Given the description of an element on the screen output the (x, y) to click on. 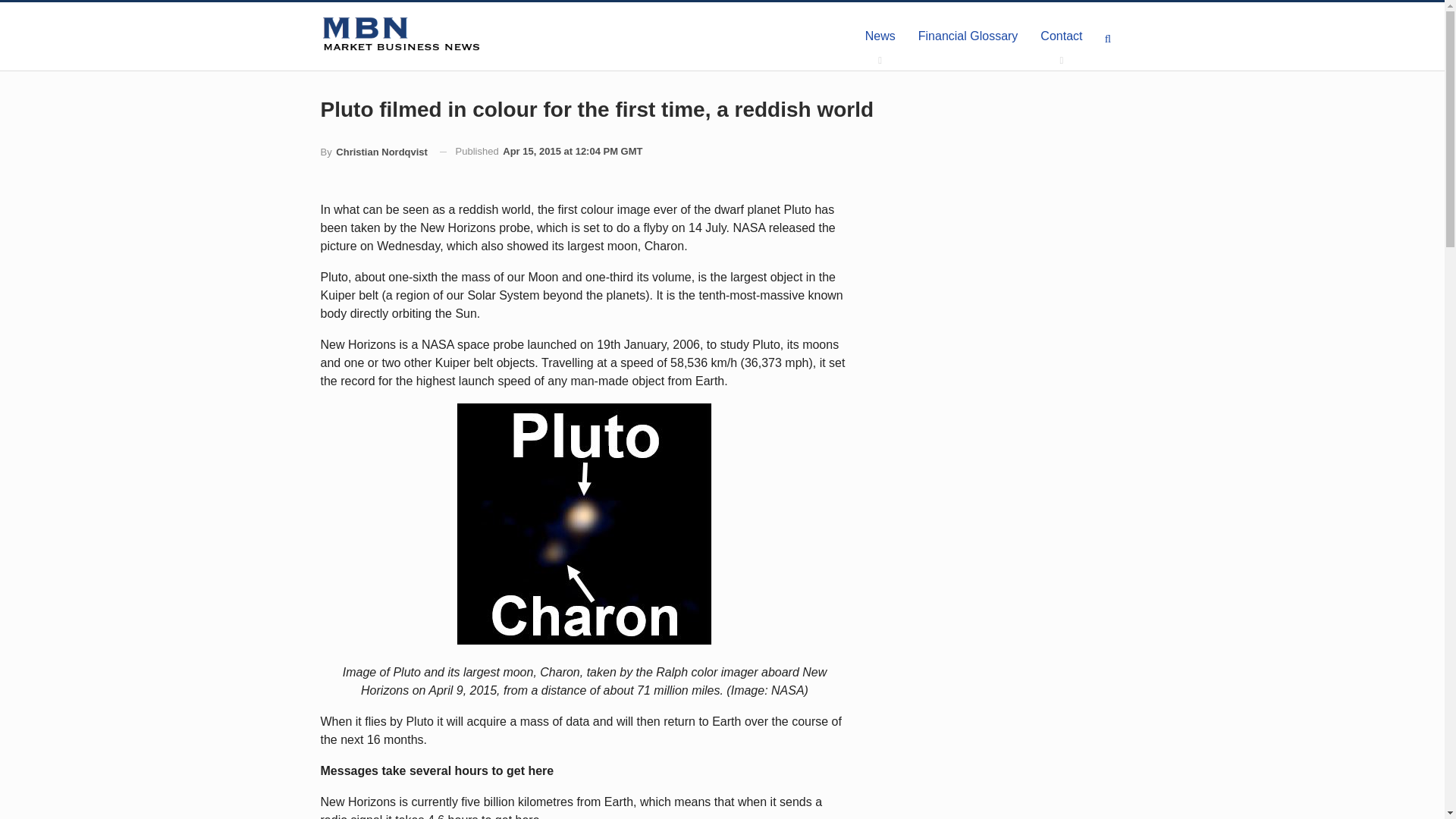
Financial Glossary (968, 36)
Contact (1061, 36)
Browse Author Articles (373, 152)
By Christian Nordqvist (373, 152)
